Given the description of an element on the screen output the (x, y) to click on. 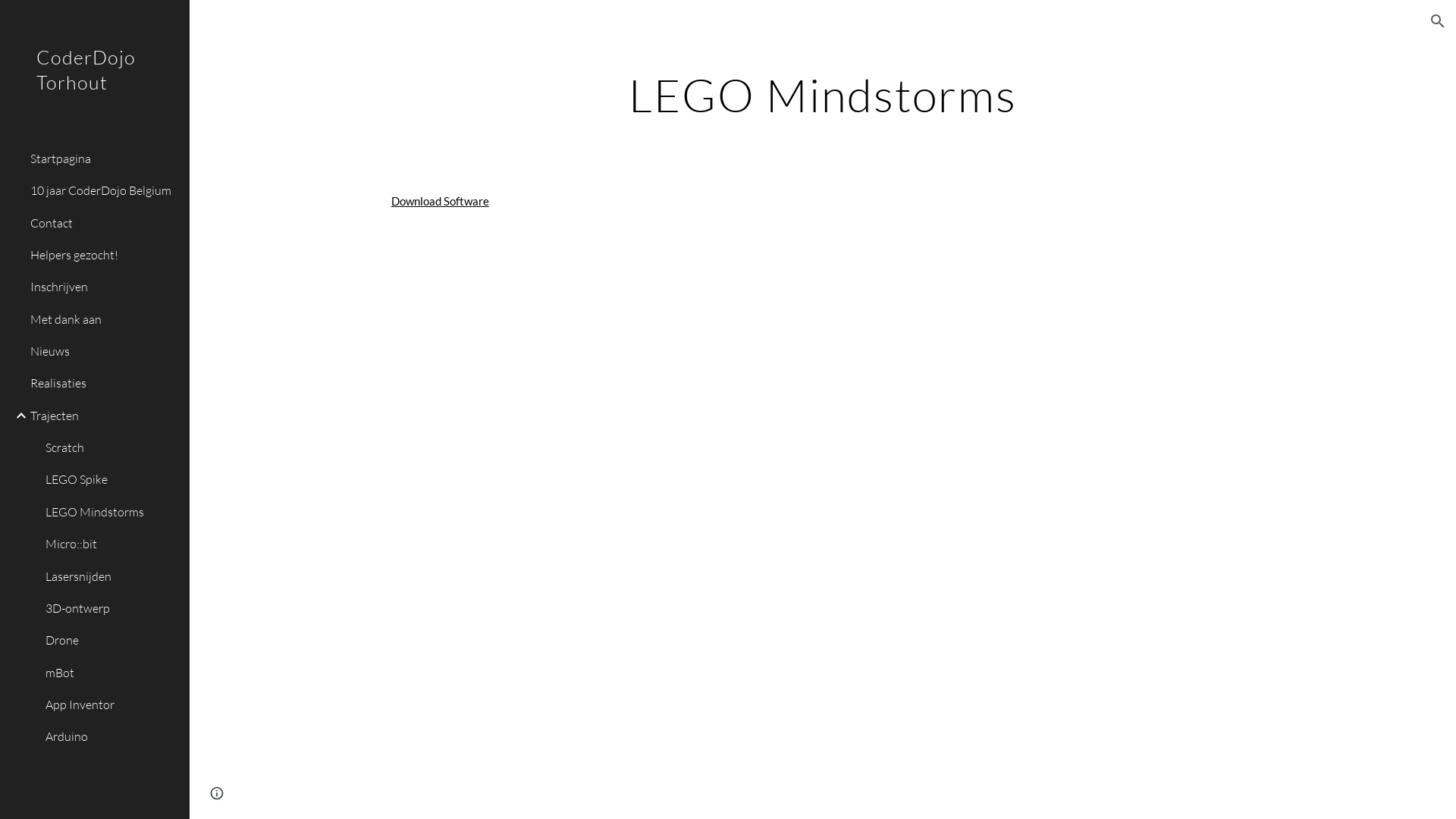
Realisaties Element type: text (103, 383)
Trajecten Element type: text (103, 415)
CoderDojo Torhout Element type: text (94, 89)
Arduino Element type: text (111, 737)
Met dank aan Element type: text (103, 319)
Contact Element type: text (103, 222)
LEGO Spike Element type: text (111, 479)
Download Software Element type: text (440, 200)
Nieuws Element type: text (103, 351)
Startpagina Element type: text (103, 158)
3D-ontwerp Element type: text (111, 608)
Lasersnijden Element type: text (111, 576)
Drone Element type: text (111, 640)
10 jaar CoderDojo Belgium Element type: text (103, 191)
Expand/Collapse Element type: hover (16, 415)
mBot Element type: text (111, 672)
Micro::bit Element type: text (111, 544)
Scratch Element type: text (111, 448)
Inschrijven Element type: text (103, 287)
Helpers gezocht! Element type: text (103, 254)
LEGO Mindstorms Element type: text (111, 511)
App Inventor Element type: text (111, 704)
